Given the description of an element on the screen output the (x, y) to click on. 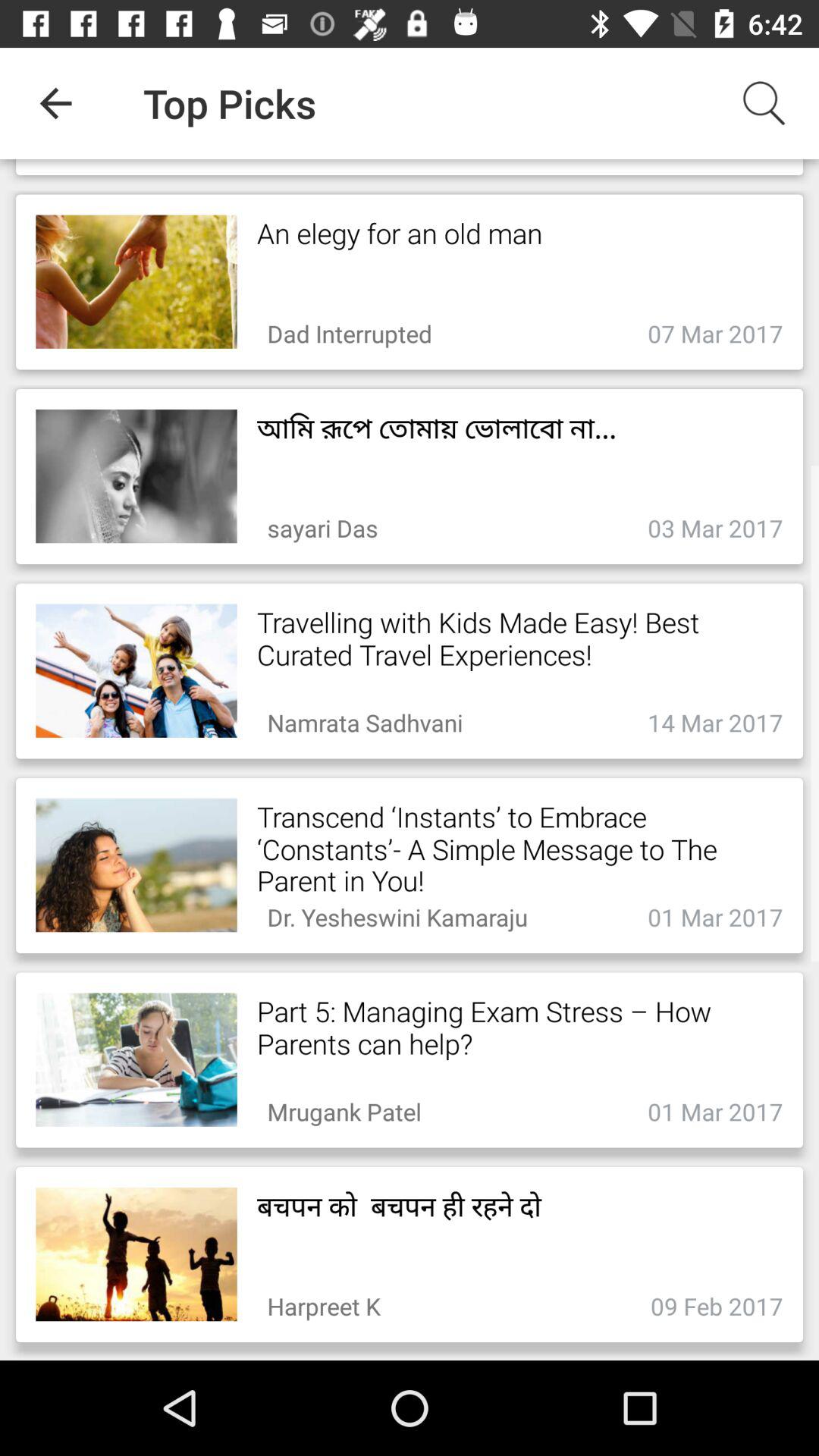
choose icon next to 03 mar 2017 item (322, 523)
